Given the description of an element on the screen output the (x, y) to click on. 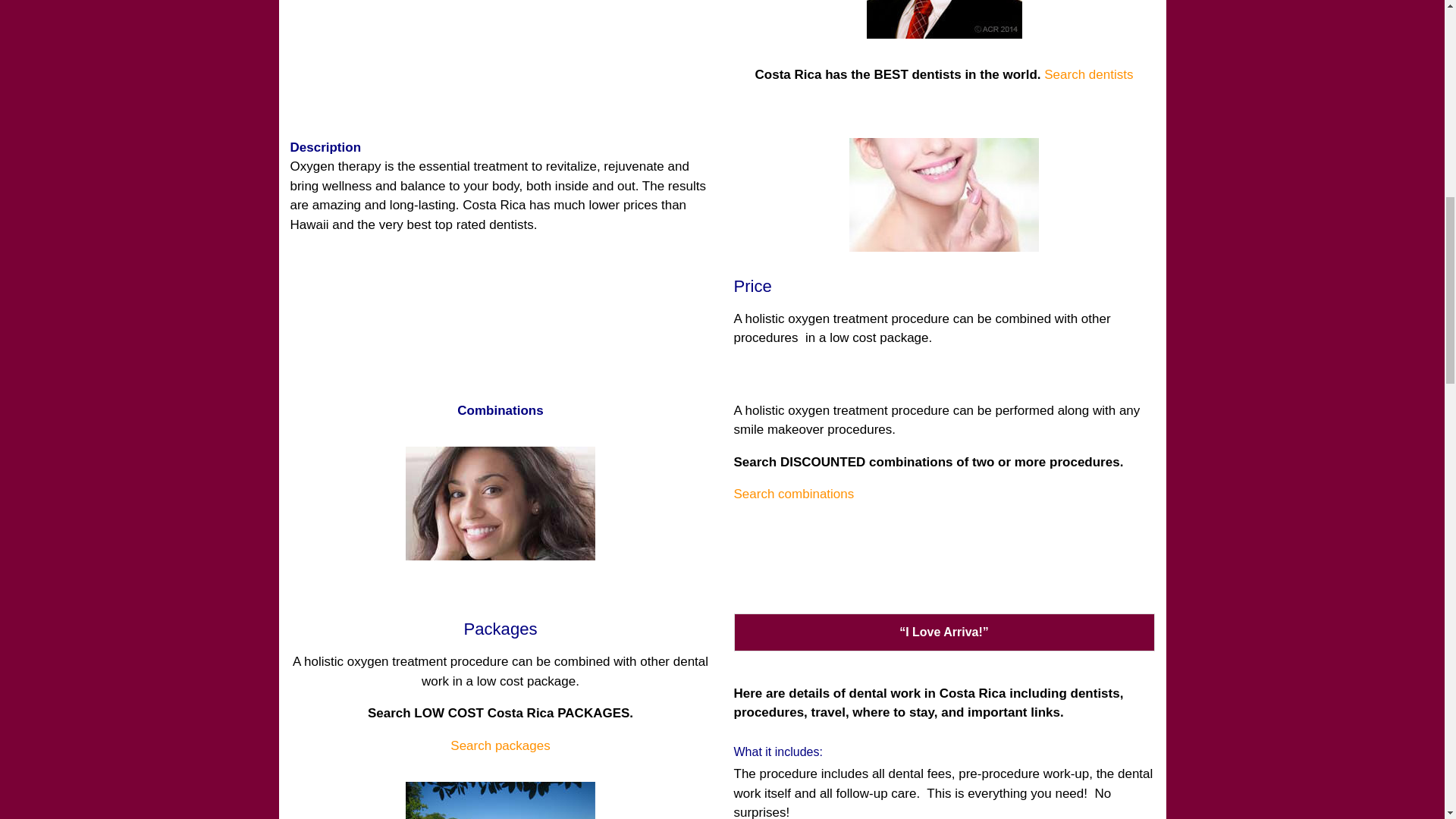
dental-combinations (500, 503)
packages-picture (500, 800)
Search dentists (1087, 74)
Search combinations (793, 493)
Search packages (499, 745)
dr-ignaciovargas (944, 19)
